Given the description of an element on the screen output the (x, y) to click on. 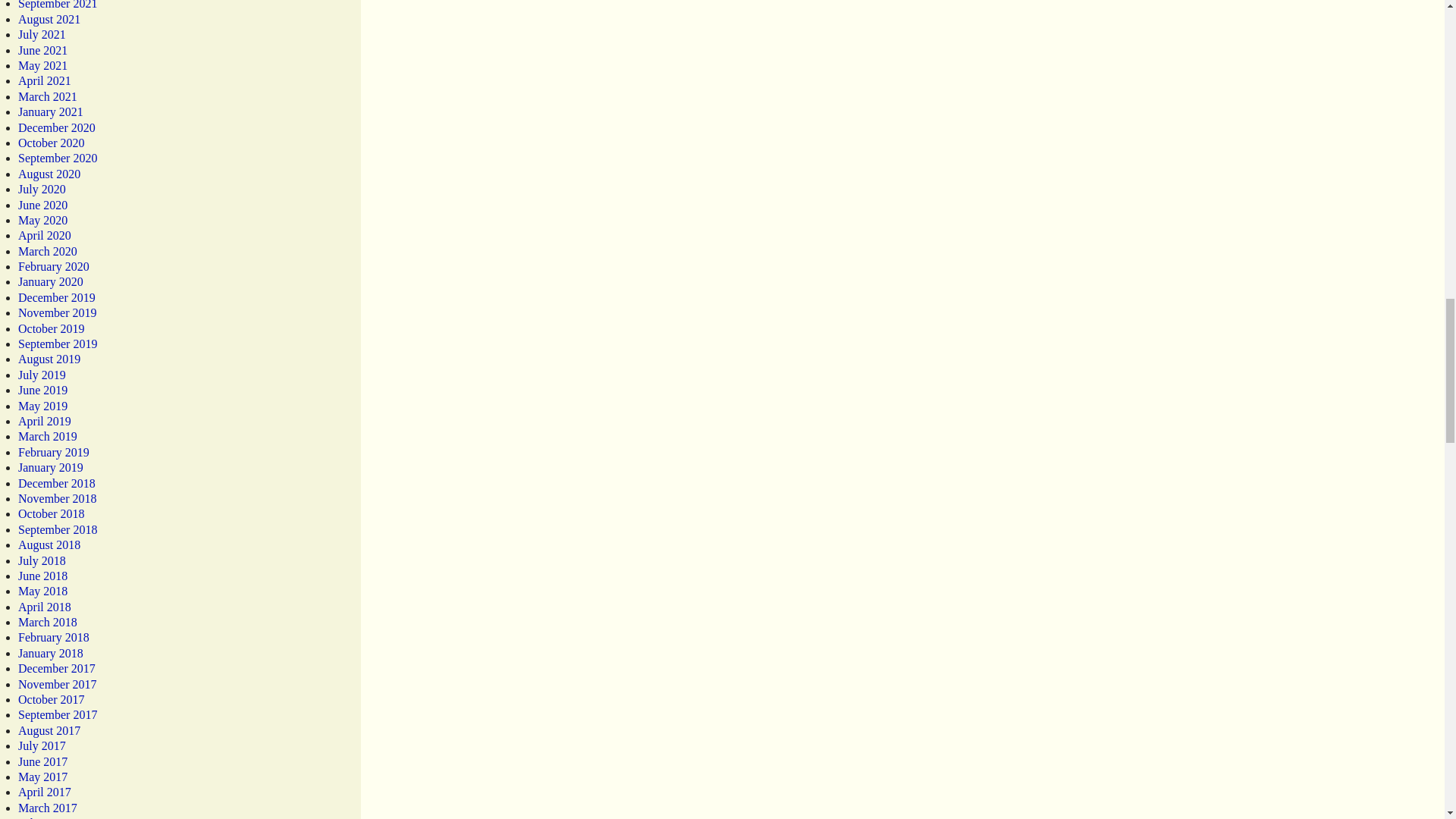
June 2021 (41, 50)
May 2021 (41, 65)
August 2021 (48, 19)
July 2021 (41, 33)
September 2021 (57, 4)
